Given the description of an element on the screen output the (x, y) to click on. 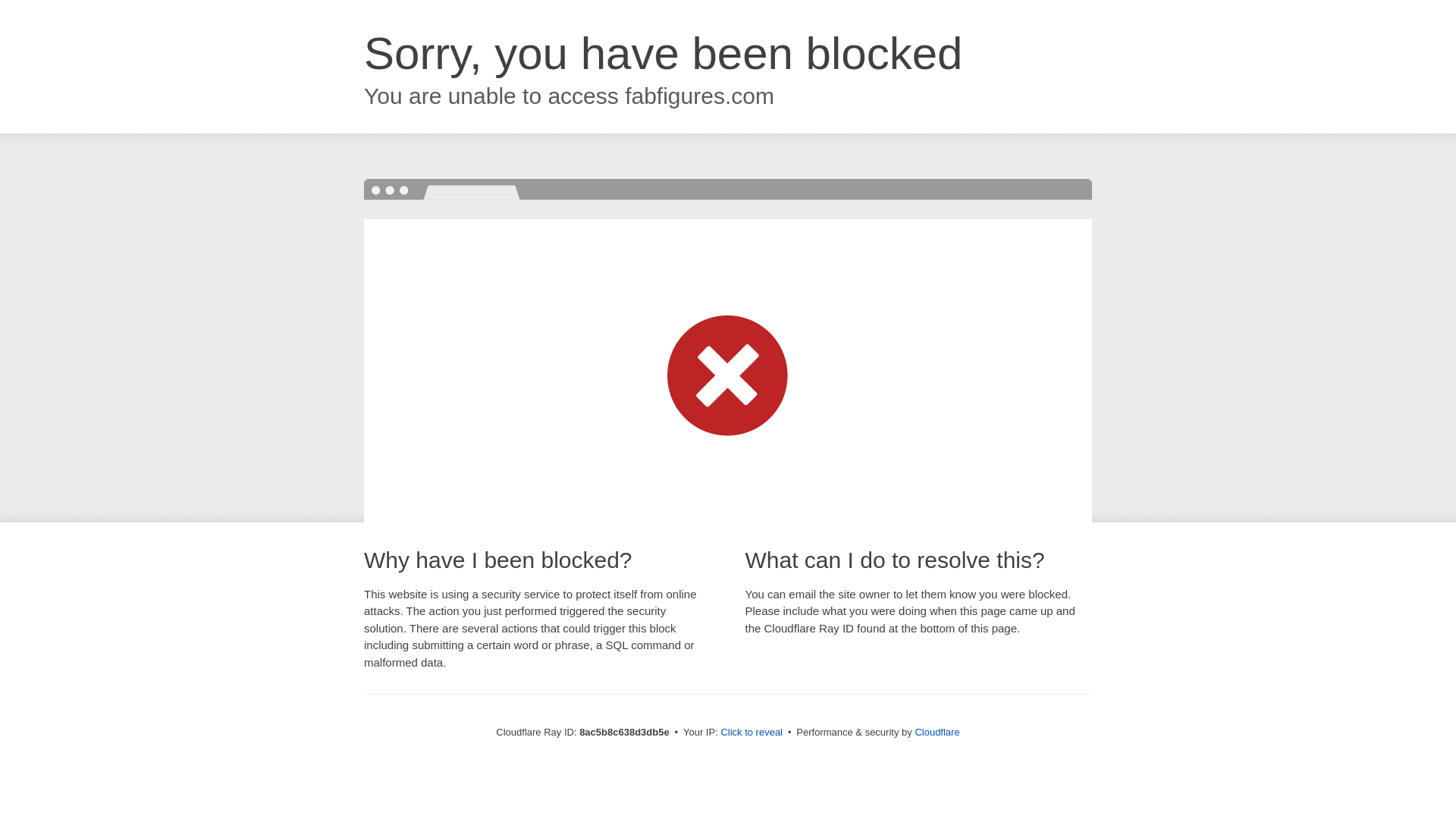
Click to reveal (751, 732)
Cloudflare (936, 731)
